Given the description of an element on the screen output the (x, y) to click on. 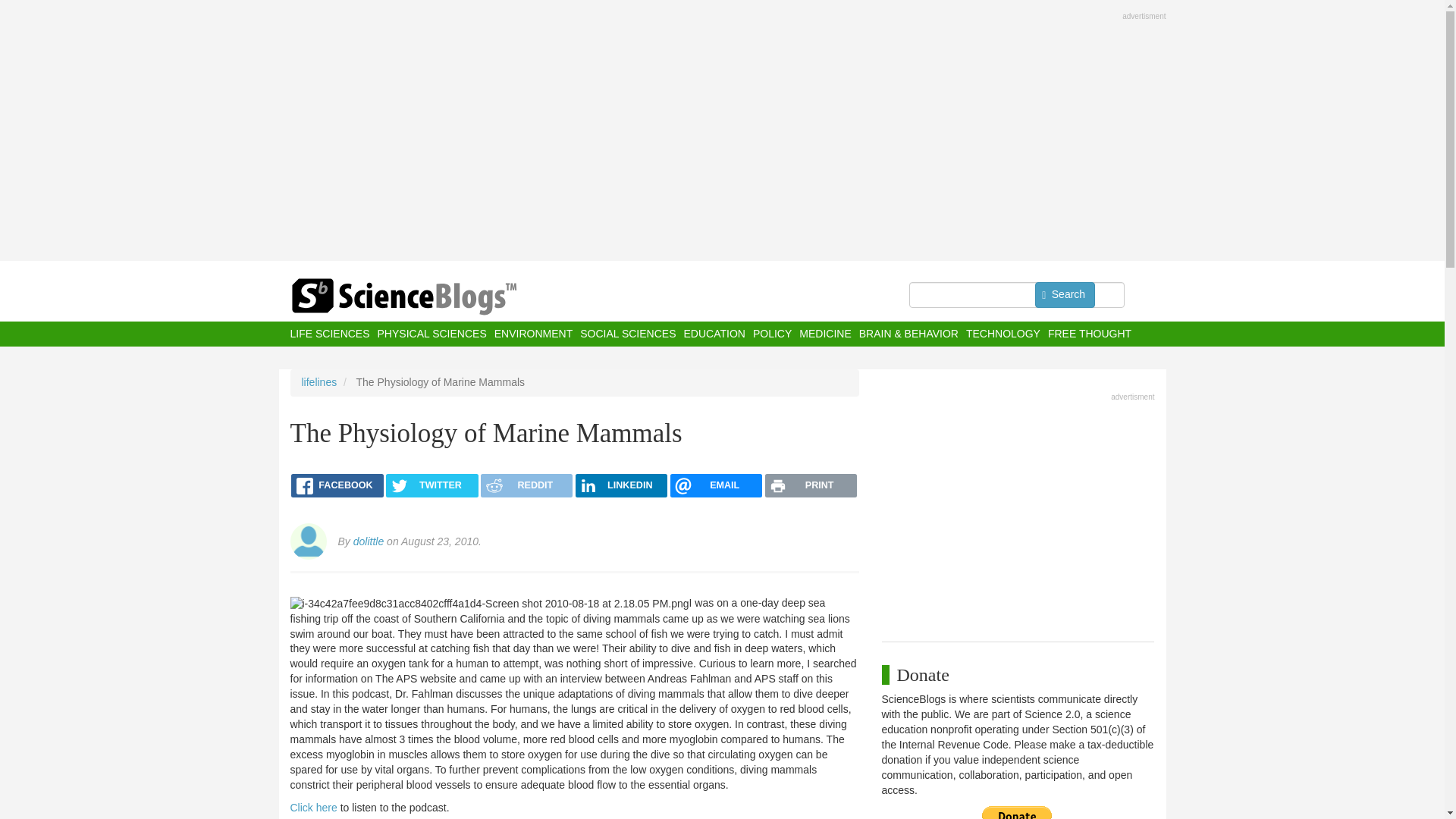
Click here (312, 807)
PRINT (811, 485)
REDDIT (526, 485)
MEDICINE (824, 334)
FREE THOUGHT (1089, 334)
Listen to the podcast (312, 807)
EDUCATION (713, 334)
PayPal - The safer, easier way to pay online! (1016, 812)
dolittle (368, 541)
Advertisement (1017, 512)
LIFE SCIENCES (329, 334)
ENVIRONMENT (533, 334)
LINKEDIN (620, 485)
Search (1064, 294)
